Given the description of an element on the screen output the (x, y) to click on. 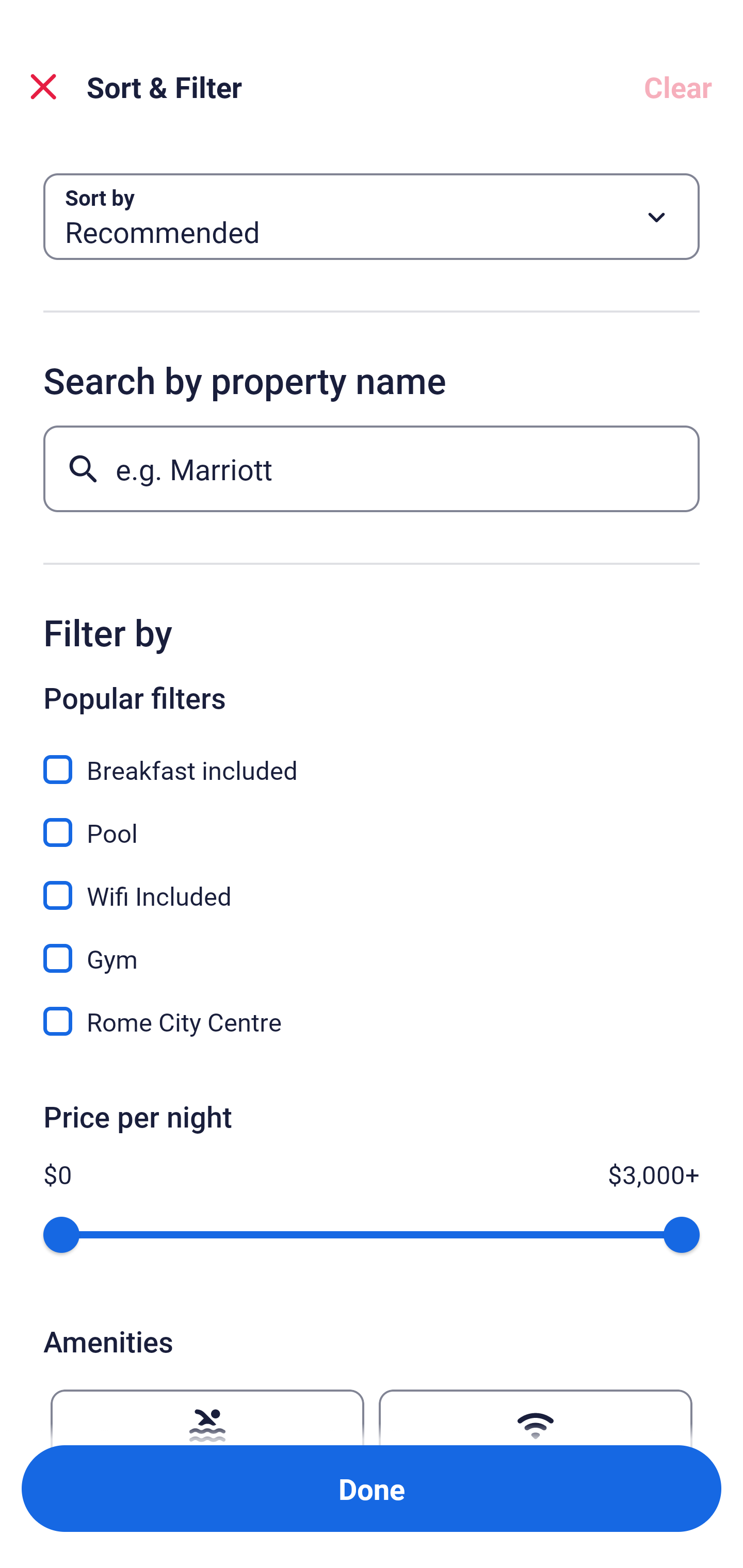
Close Sort and Filter (43, 86)
Clear (677, 86)
Sort by Button Recommended (371, 217)
e.g. Marriott Button (371, 468)
Breakfast included, Breakfast included (371, 757)
Pool, Pool (371, 821)
Wifi Included, Wifi Included (371, 883)
Gym, Gym (371, 946)
Rome City Centre, Rome City Centre (371, 1021)
Apply and close Sort and Filter Done (371, 1488)
